Given the description of an element on the screen output the (x, y) to click on. 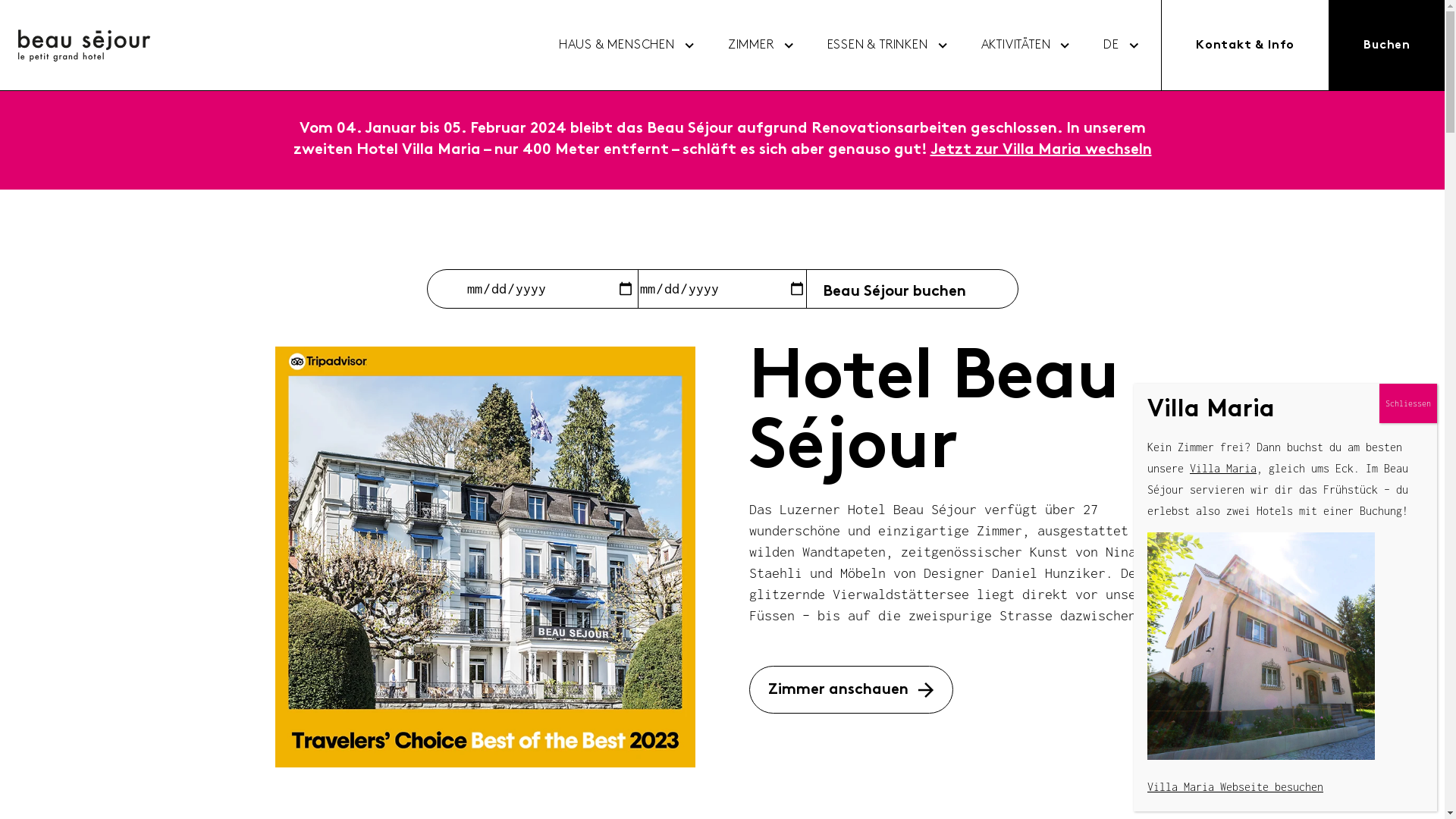
Zimmer anschauen Element type: text (851, 689)
Hotel Beau Sejour Lucerne Tripadvisor Best of the Best 2023 Element type: hover (484, 556)
DE Element type: text (1111, 45)
Villa Maria Webseite besuchen Element type: text (1235, 786)
ZIMMER Element type: text (751, 45)
Villa Maria Element type: text (1222, 467)
Schliessen Element type: text (1408, 403)
Jetzt zur Villa Maria wechseln Element type: text (1040, 150)
Kontakt & Info Element type: text (1244, 45)
Buchen Element type: text (1386, 45)
ESSEN & TRINKEN Element type: text (877, 45)
HAUS & MENSCHEN Element type: text (616, 45)
